Given the description of an element on the screen output the (x, y) to click on. 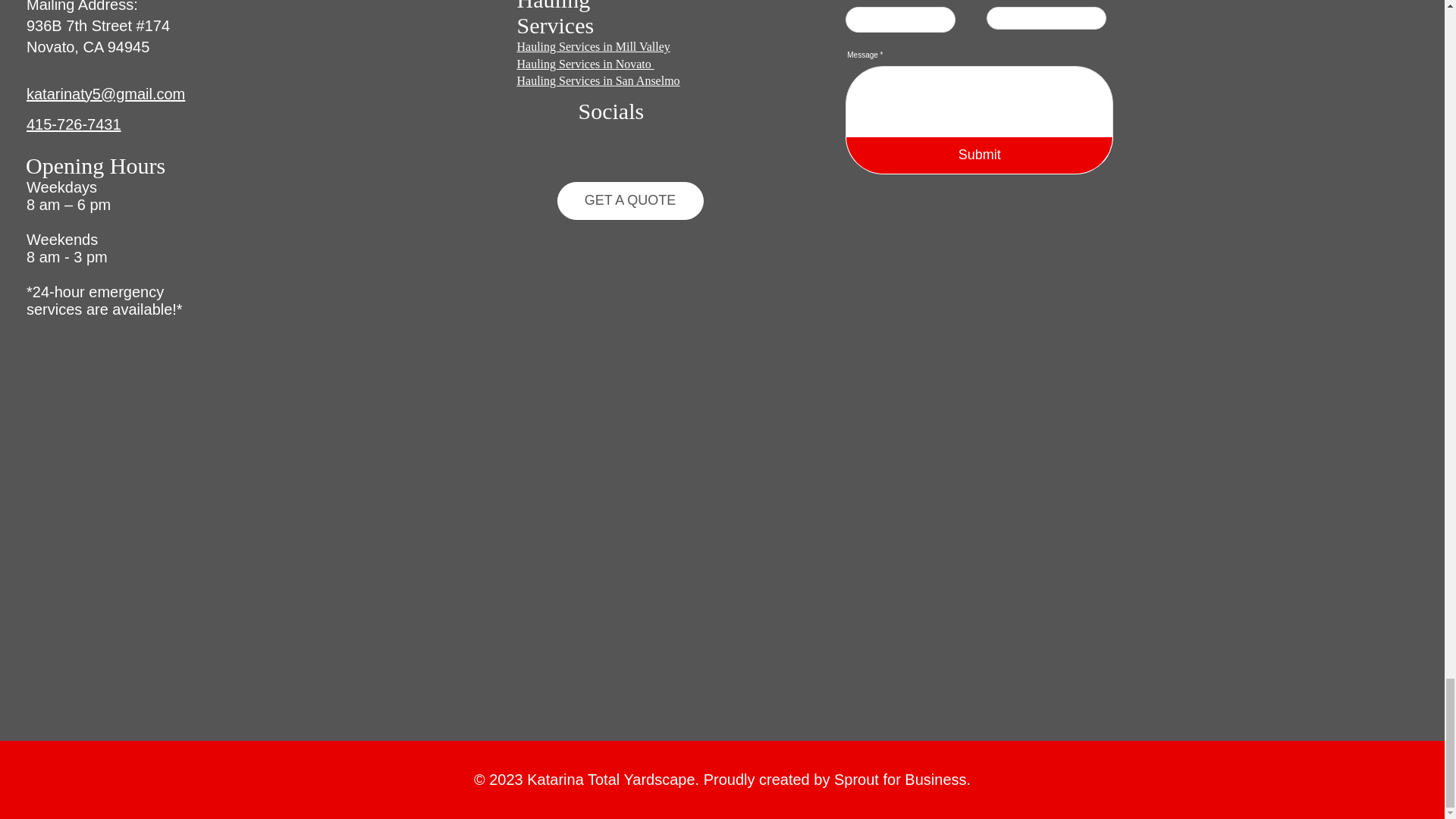
Hauling Services in Mill Valley (592, 46)
Submit (979, 155)
Hauling Services in San Anselmo (597, 80)
415-726-7431 (73, 124)
Hauling Services in Novato  (584, 63)
GET A QUOTE (629, 200)
Sprout for Business. (902, 779)
